Given the description of an element on the screen output the (x, y) to click on. 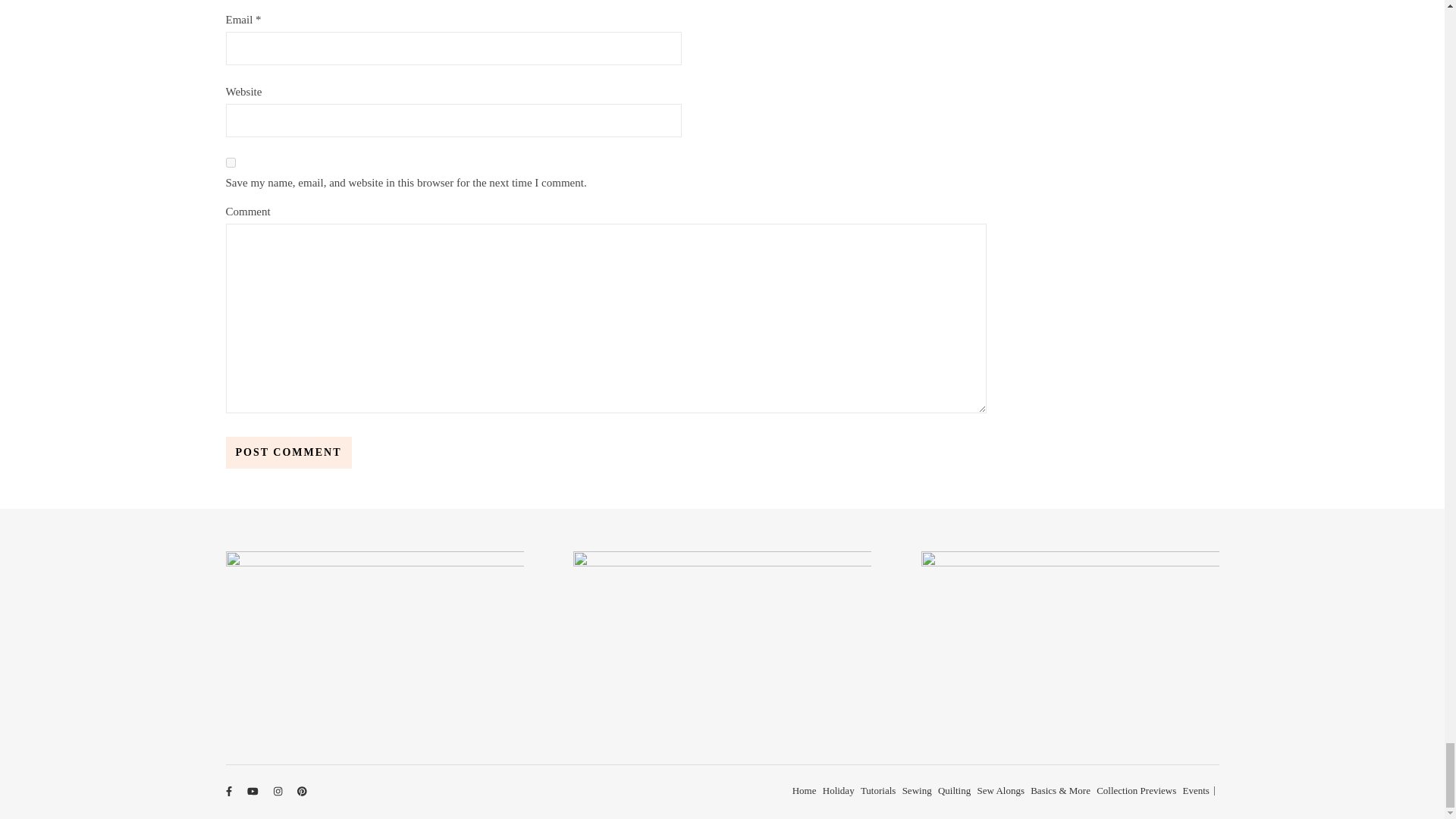
Post Comment (288, 452)
yes (230, 162)
